Given the description of an element on the screen output the (x, y) to click on. 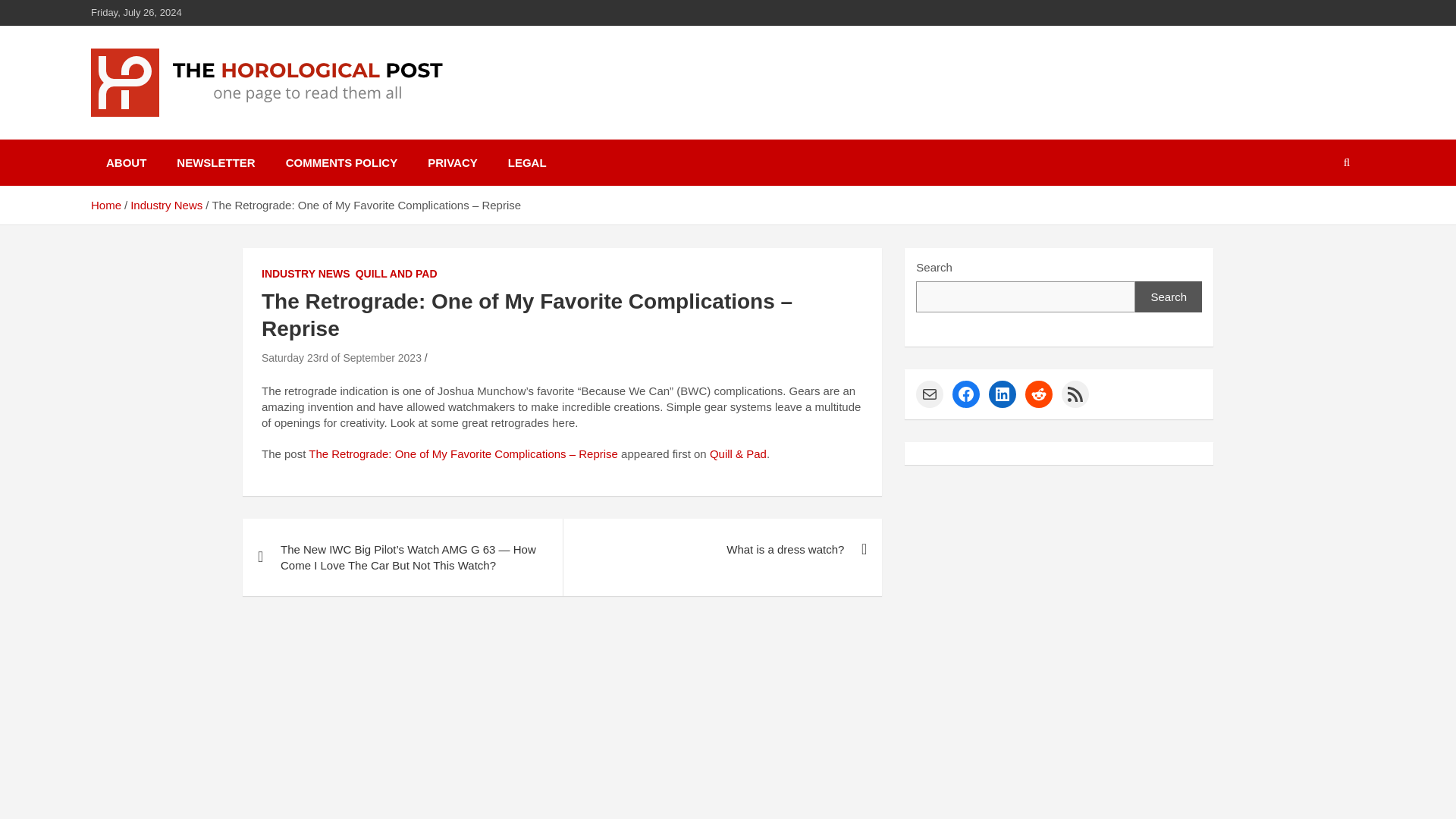
LinkedIn (1002, 393)
Reddit (1038, 393)
QUILL AND PAD (396, 273)
Facebook (965, 393)
Industry News (166, 205)
ABOUT (125, 162)
What is a dress watch? (722, 548)
INDUSTRY NEWS (306, 273)
Mail (929, 393)
Saturday 23rd of September 2023 (342, 357)
COMMENTS POLICY (341, 162)
the Horological Post (237, 136)
Home (105, 205)
PRIVACY (452, 162)
LEGAL (527, 162)
